Given the description of an element on the screen output the (x, y) to click on. 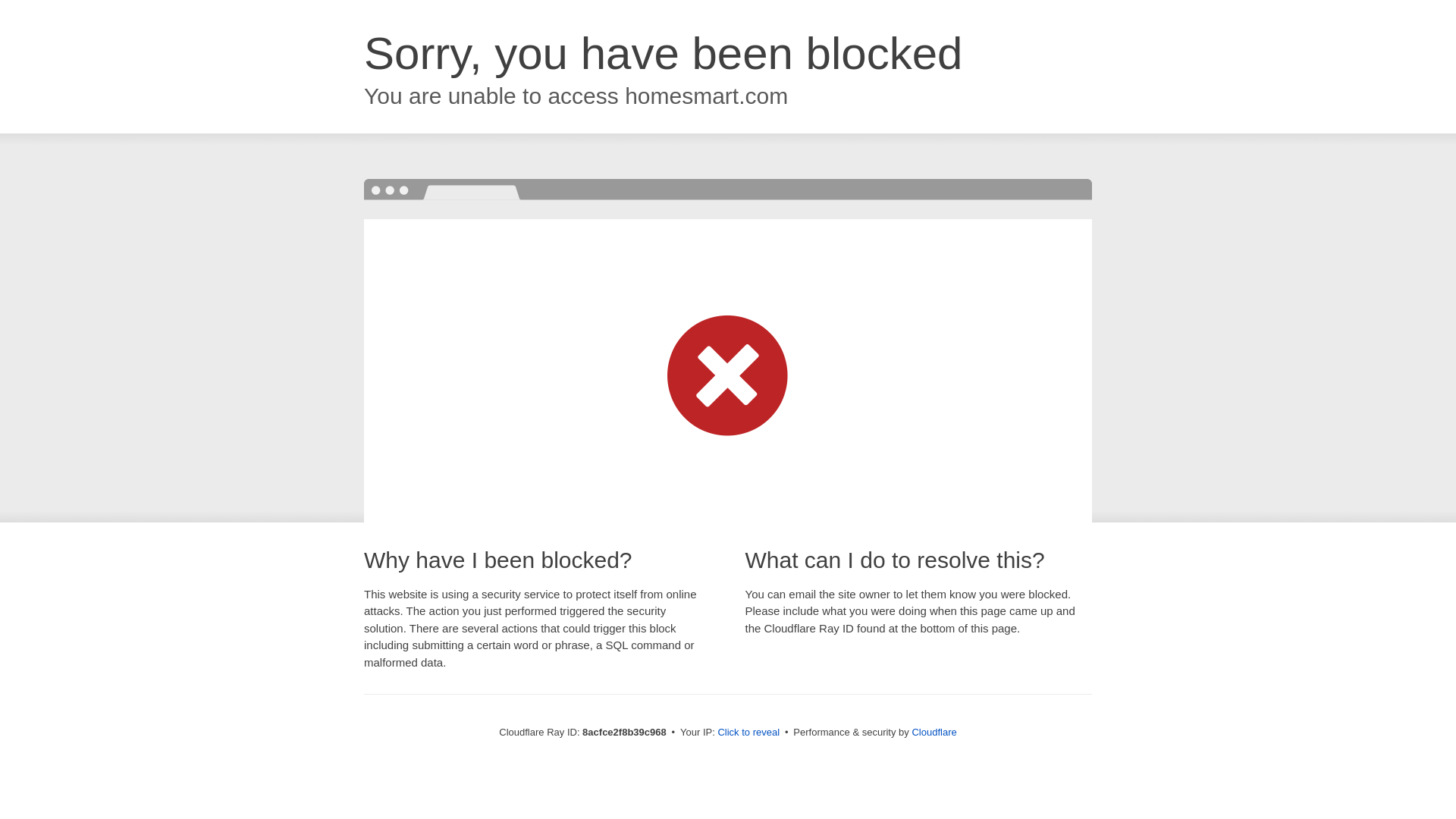
Cloudflare (933, 731)
Click to reveal (747, 732)
